Given the description of an element on the screen output the (x, y) to click on. 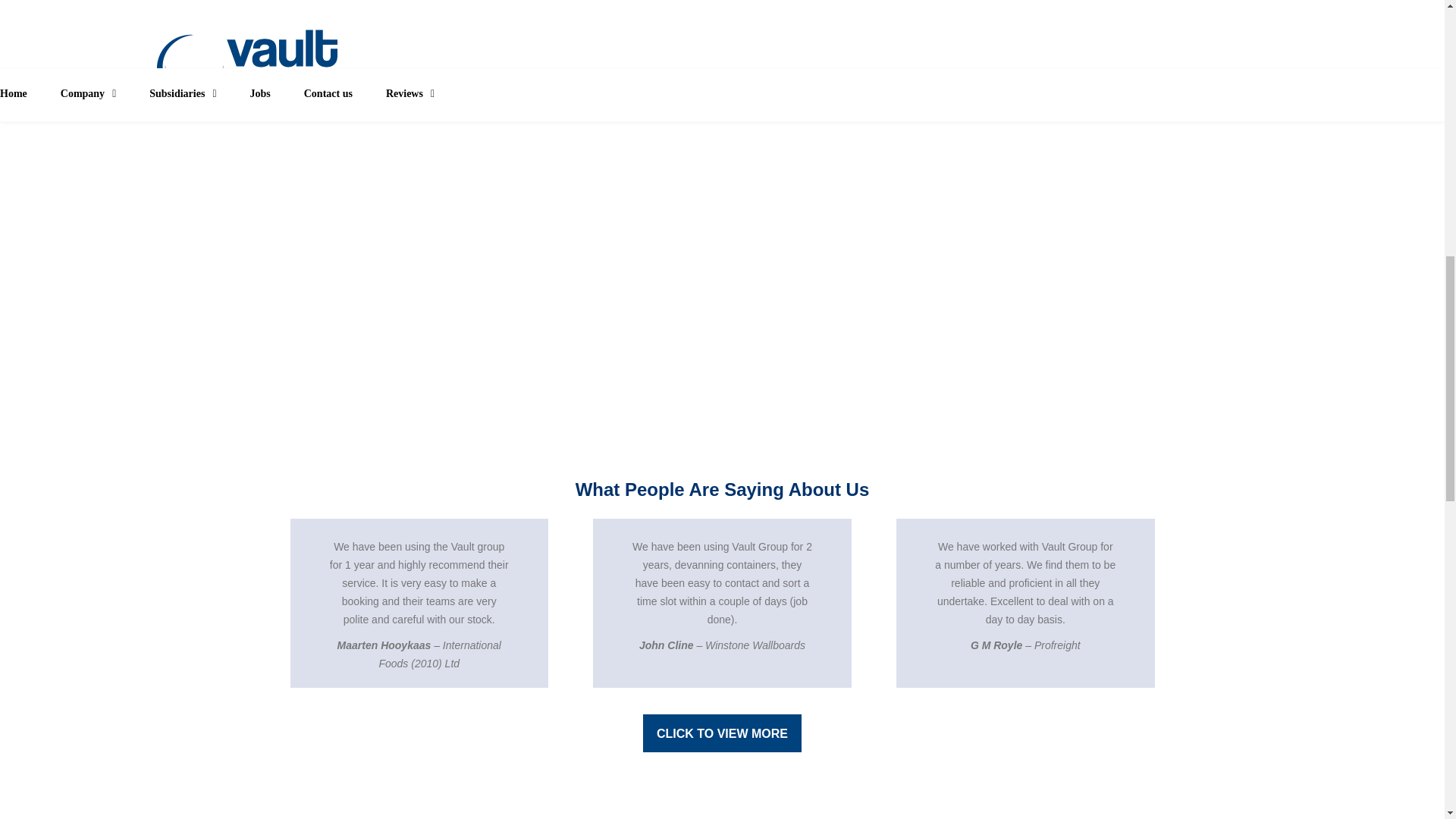
CONTACT US (722, 91)
CONTACT US (1024, 91)
CLICK TO VIEW MORE (722, 733)
CONTACT US (419, 91)
